Given the description of an element on the screen output the (x, y) to click on. 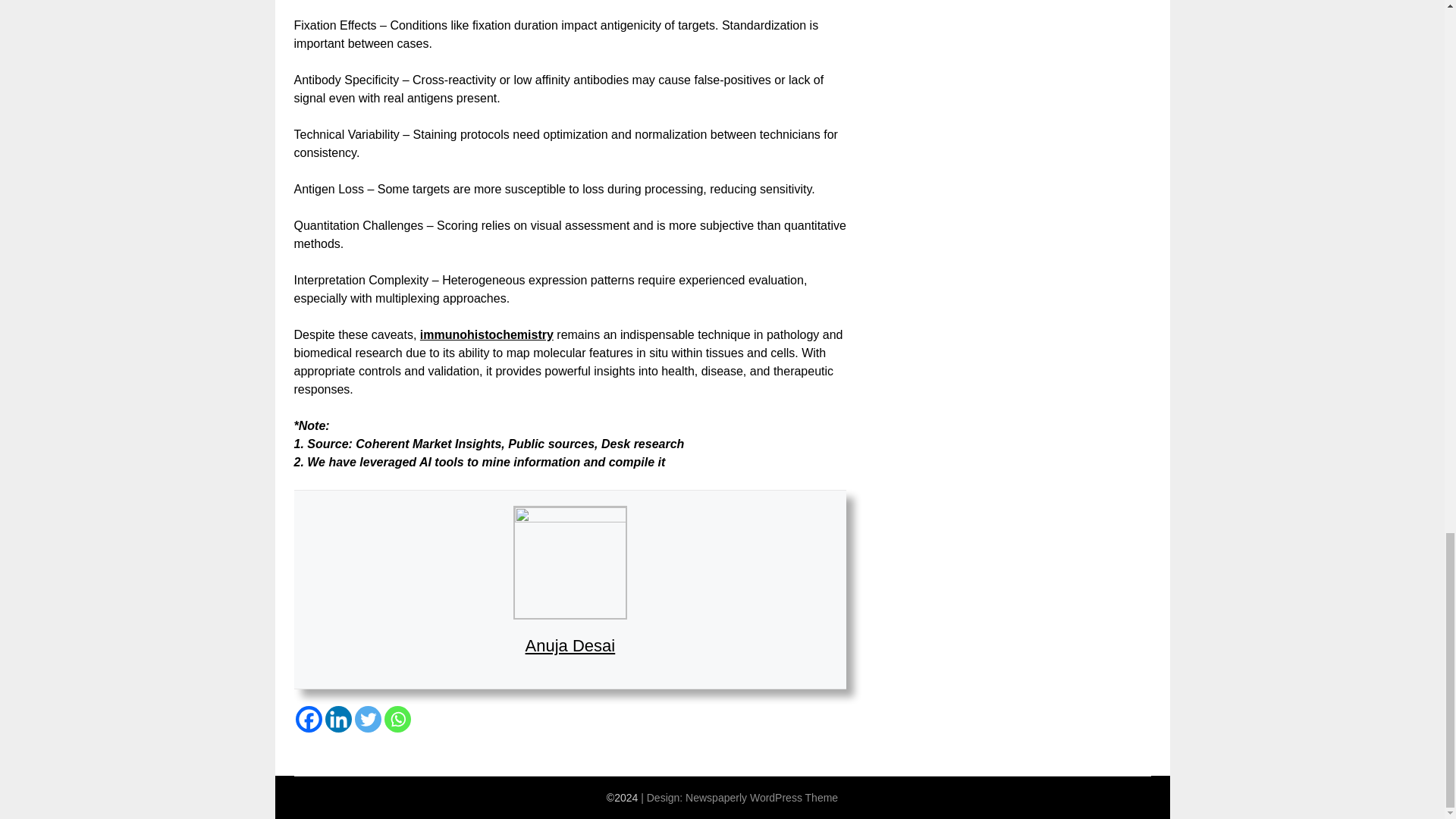
Linkedin (337, 718)
immunohistochemistry (486, 334)
Newspaperly WordPress Theme (761, 797)
Whatsapp (397, 718)
Anuja Desai (570, 645)
Twitter (368, 718)
Facebook (308, 718)
